Given the description of an element on the screen output the (x, y) to click on. 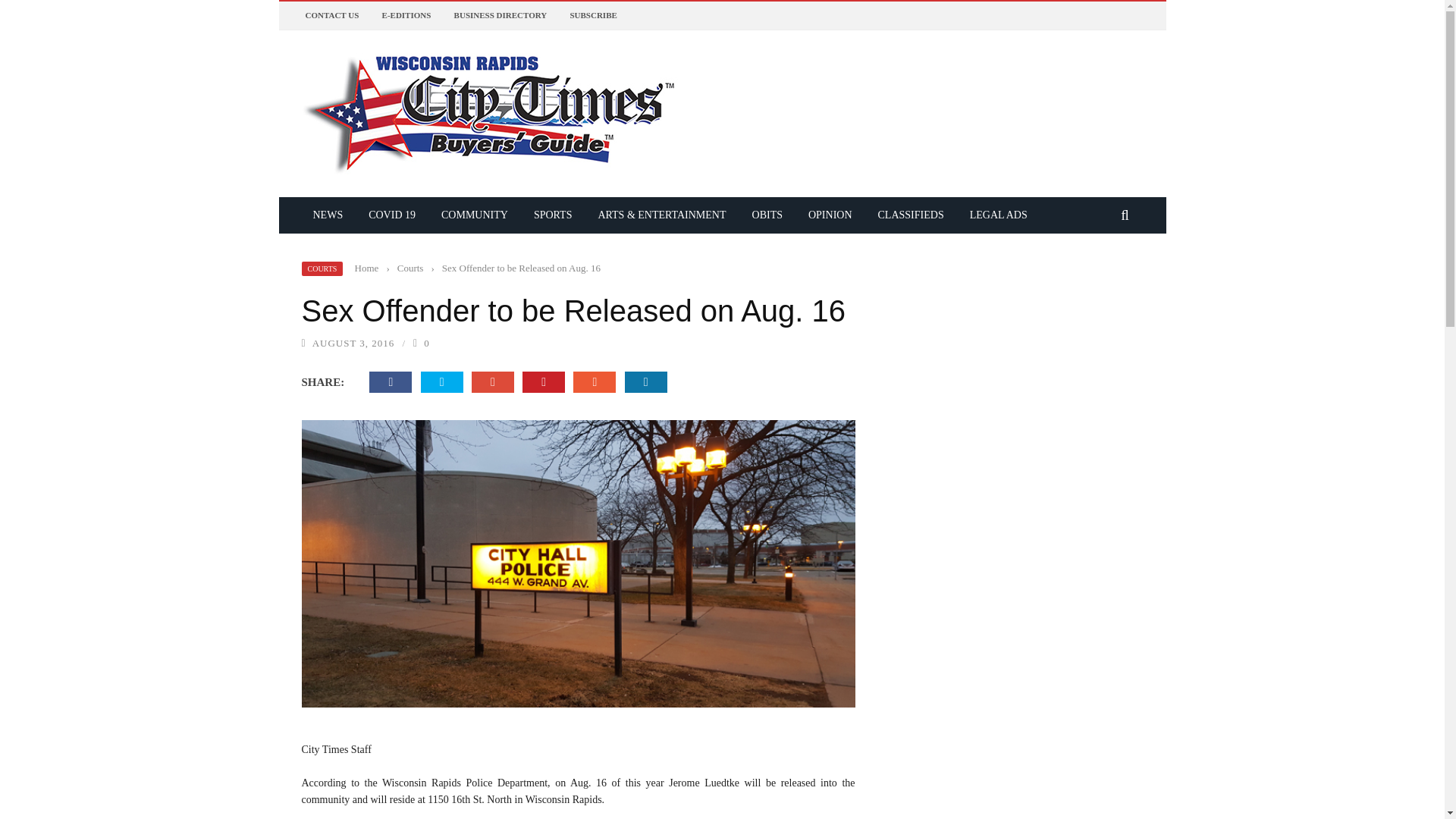
SPORTS (552, 214)
SUBSCRIBE (592, 14)
NEWS (328, 214)
CONTACT US (331, 14)
COMMUNITY (474, 214)
E-EDITIONS (405, 14)
COVID 19 (391, 214)
BUSINESS DIRECTORY (500, 14)
